Given the description of an element on the screen output the (x, y) to click on. 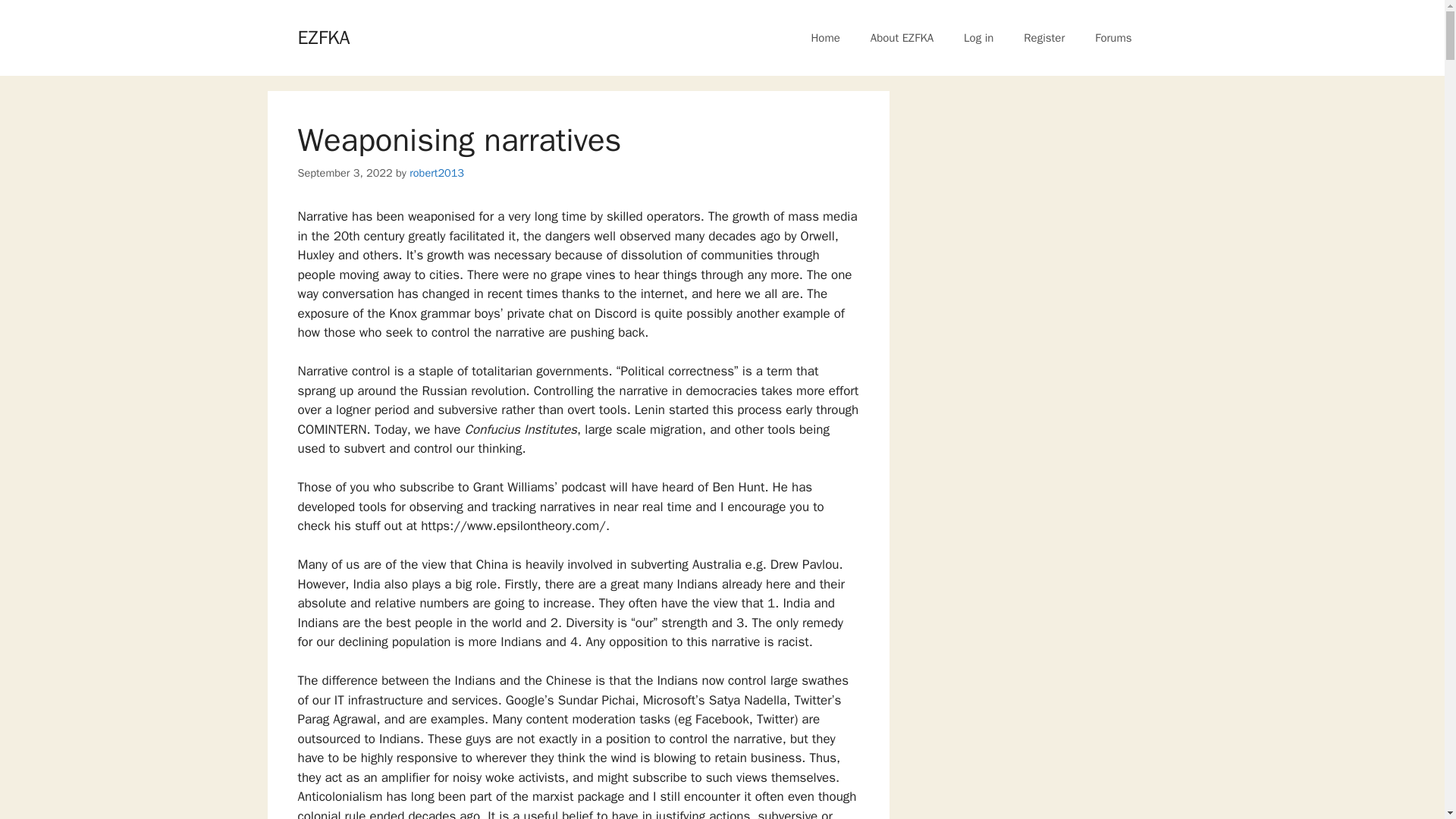
Forums (1113, 37)
Register (1044, 37)
View all posts by robert2013 (436, 172)
robert2013 (436, 172)
EZFKA (323, 37)
Log in (979, 37)
About EZFKA (902, 37)
Home (824, 37)
